Given the description of an element on the screen output the (x, y) to click on. 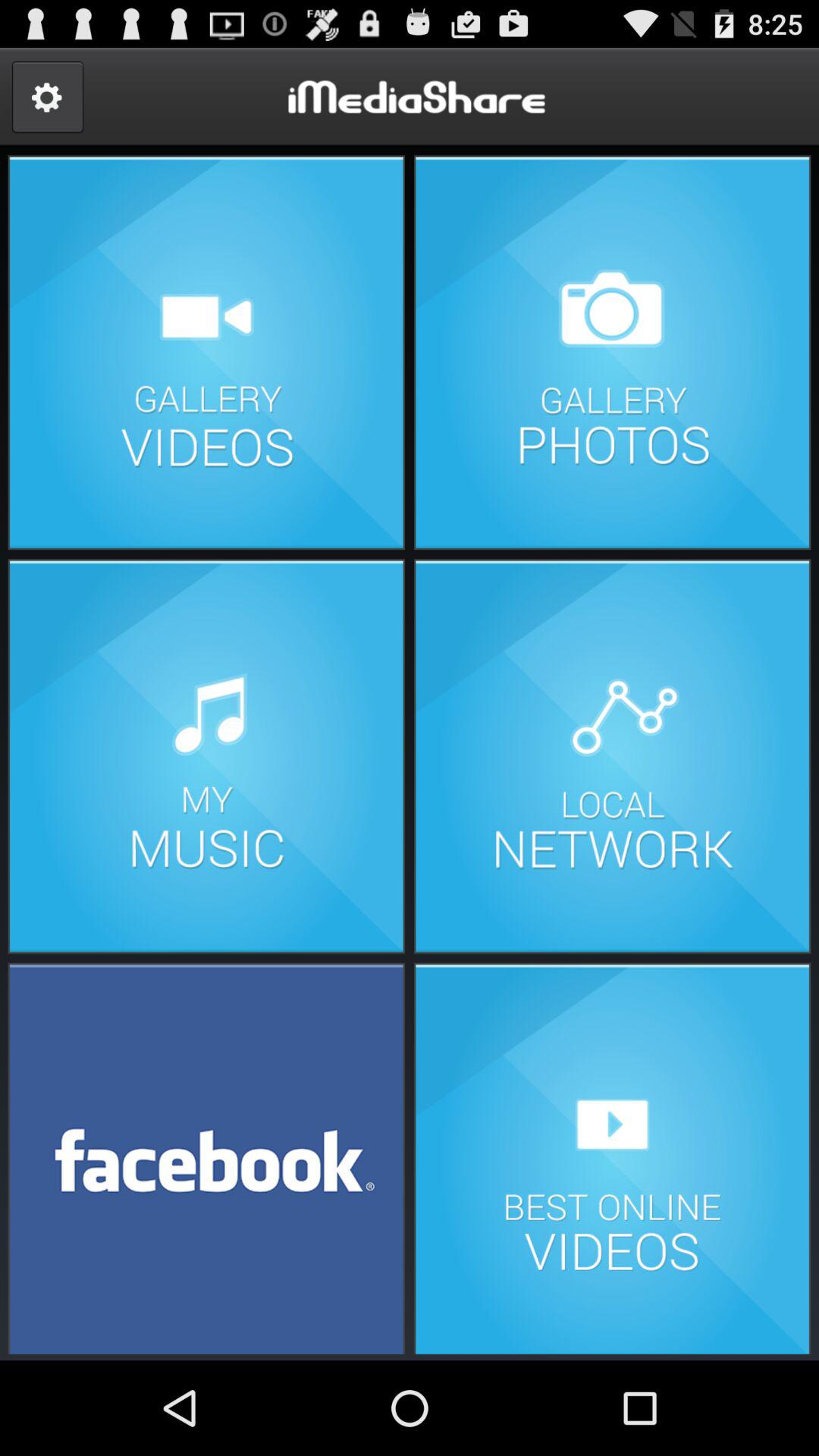
photo gallery (612, 352)
